Given the description of an element on the screen output the (x, y) to click on. 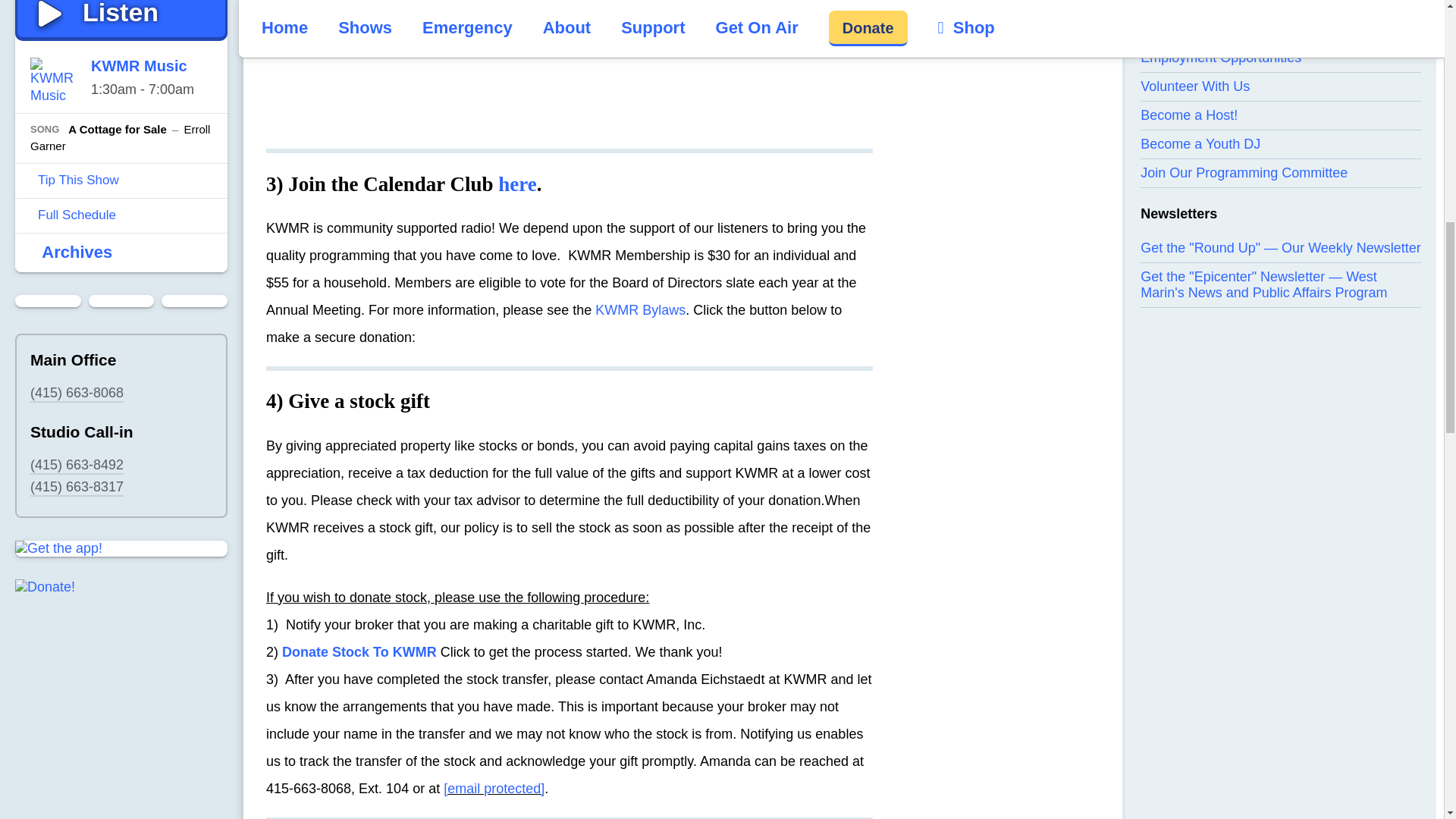
here (516, 183)
KWMR Bylaws (640, 309)
Donate Stock To KWMR (359, 652)
